Given the description of an element on the screen output the (x, y) to click on. 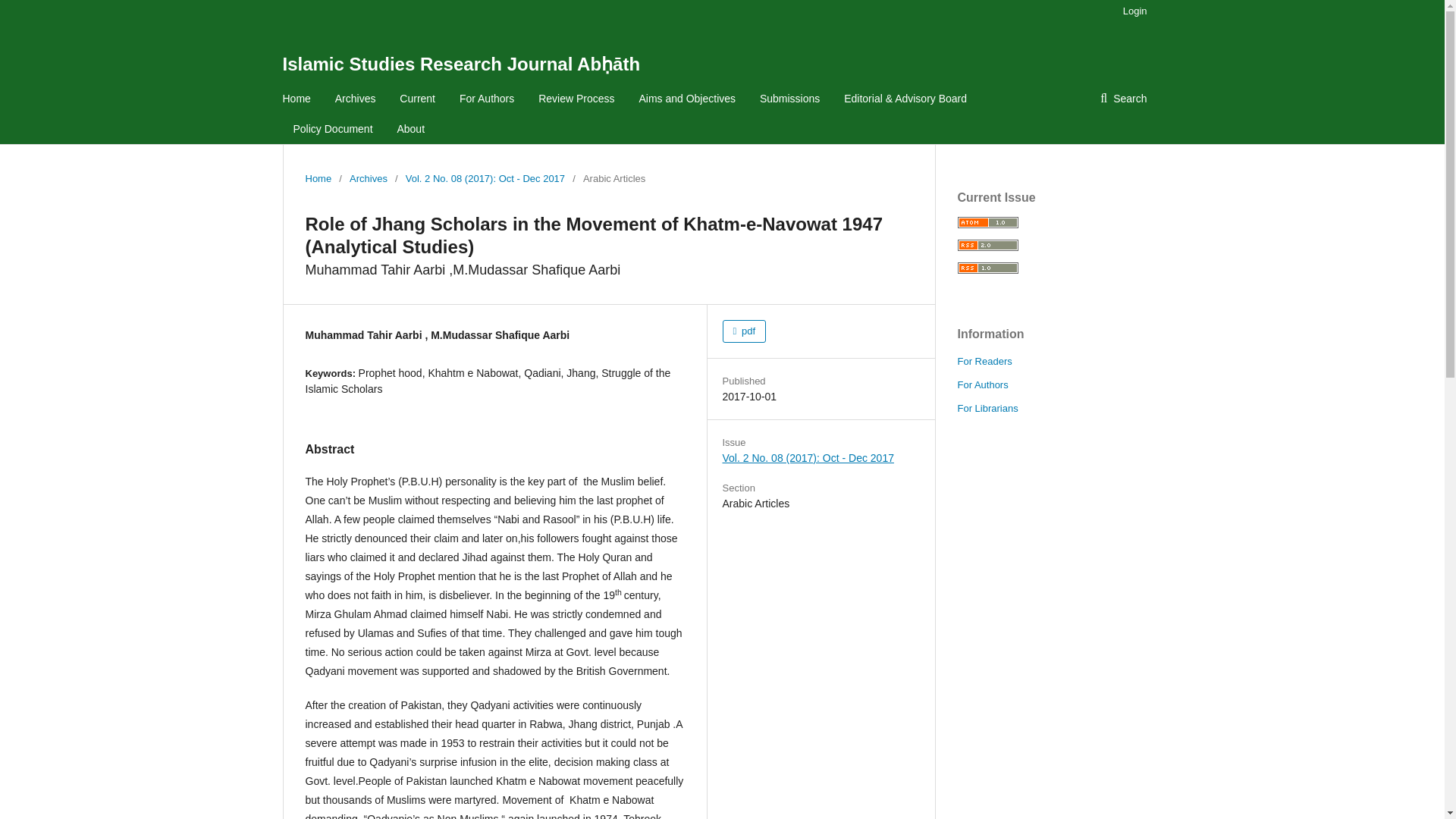
Archives (354, 98)
About (410, 128)
Aims and Objectives (687, 98)
Home (317, 178)
pdf (743, 331)
Submissions (789, 98)
Review Process (576, 98)
For Authors (981, 384)
Home (296, 98)
Search (1122, 98)
